Given the description of an element on the screen output the (x, y) to click on. 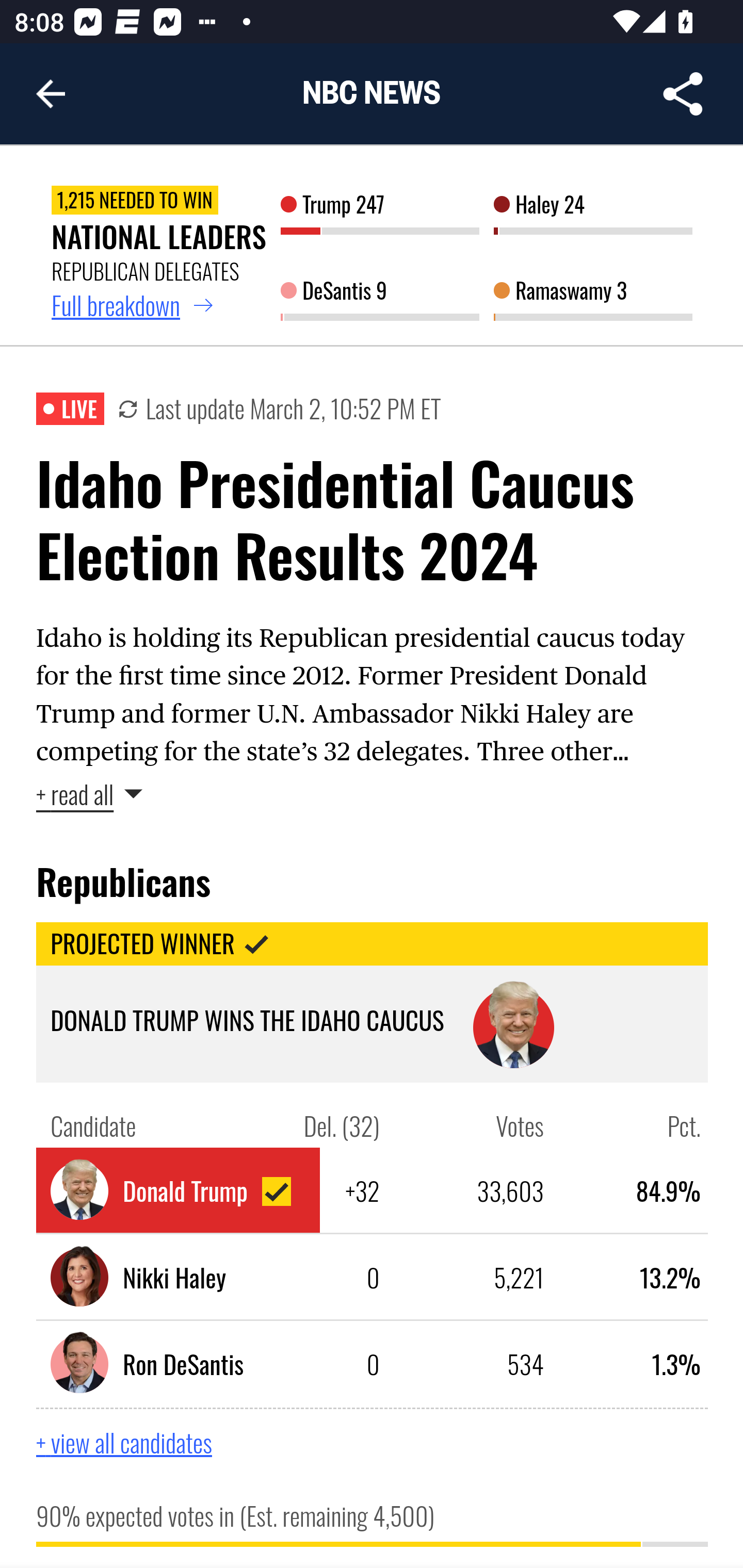
Navigate up (50, 93)
Share Article, button (683, 94)
+ read all (90, 793)
view all candidates (144, 1442)
